Given the description of an element on the screen output the (x, y) to click on. 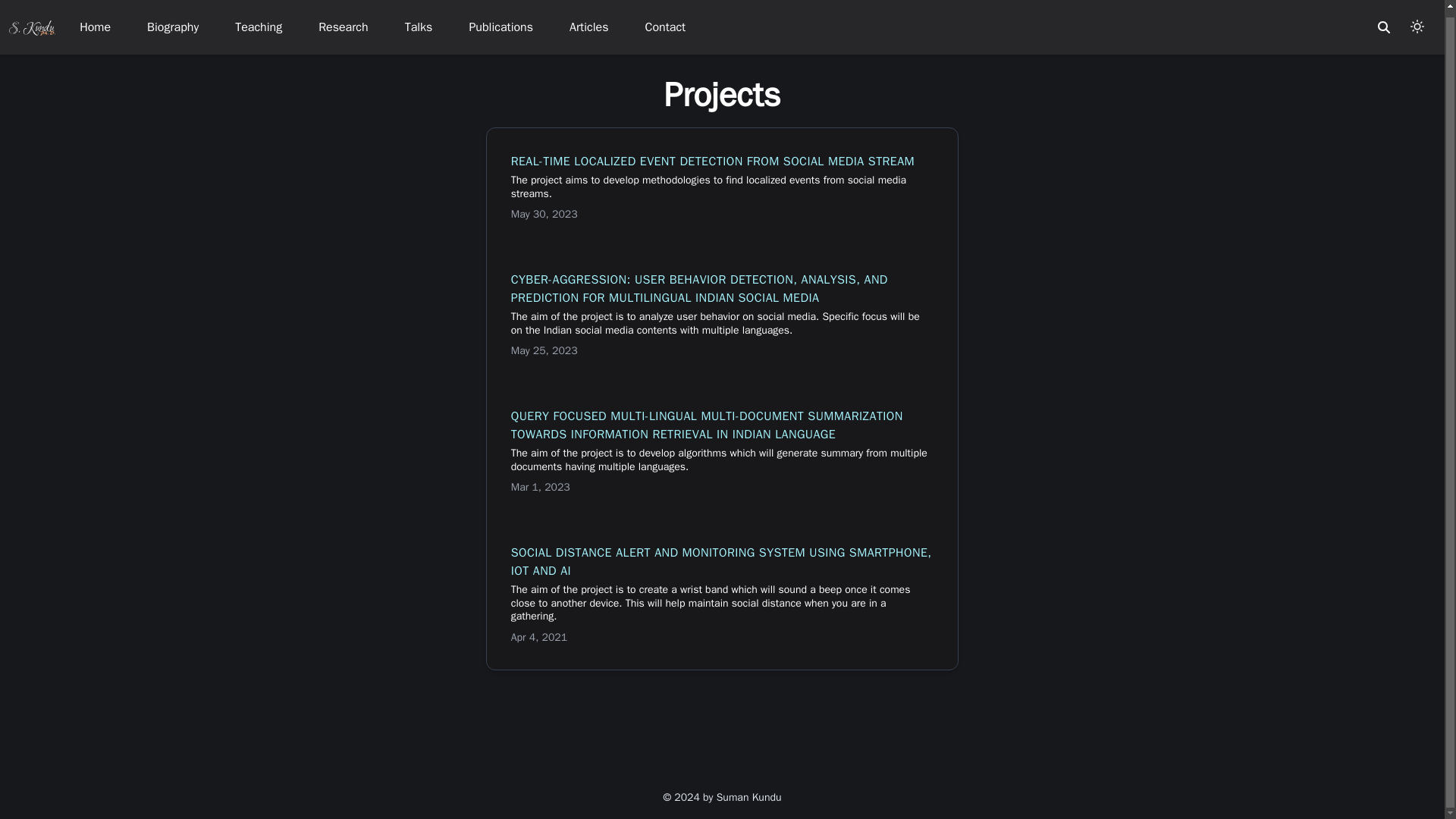
Biography (173, 21)
appearance (1416, 20)
Articles (588, 21)
Suman Kundu (31, 20)
Home (95, 21)
Talks (418, 21)
Contact (665, 21)
